Given the description of an element on the screen output the (x, y) to click on. 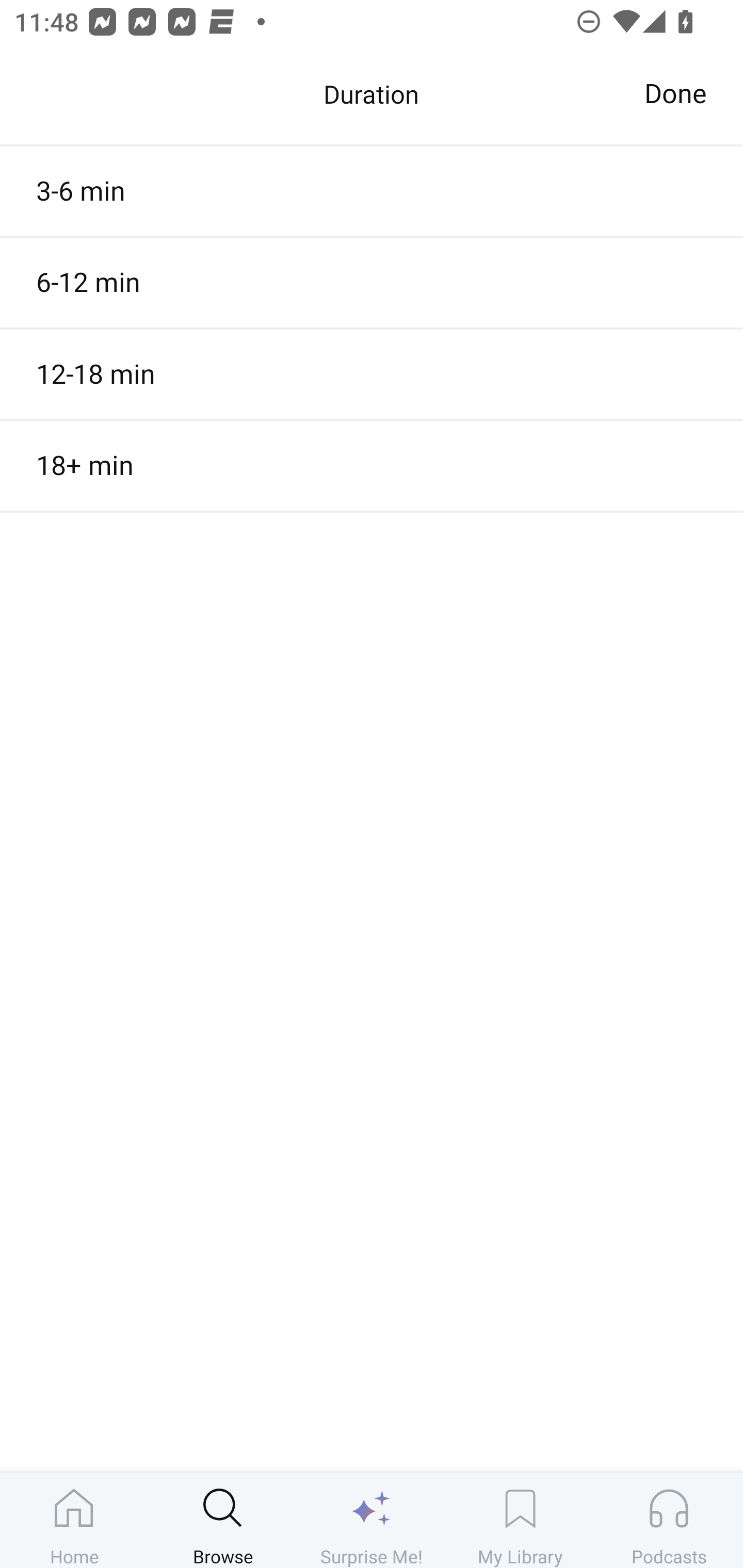
Culture (371, 100)
Done (675, 93)
Sarah Jones: Let's reframe cancel culture (371, 202)
Ronald Murray: The language of ballroom culture (371, 386)
Home (74, 1520)
Browse (222, 1520)
Surprise Me! (371, 1520)
My Library (519, 1520)
Podcasts (668, 1520)
